Given the description of an element on the screen output the (x, y) to click on. 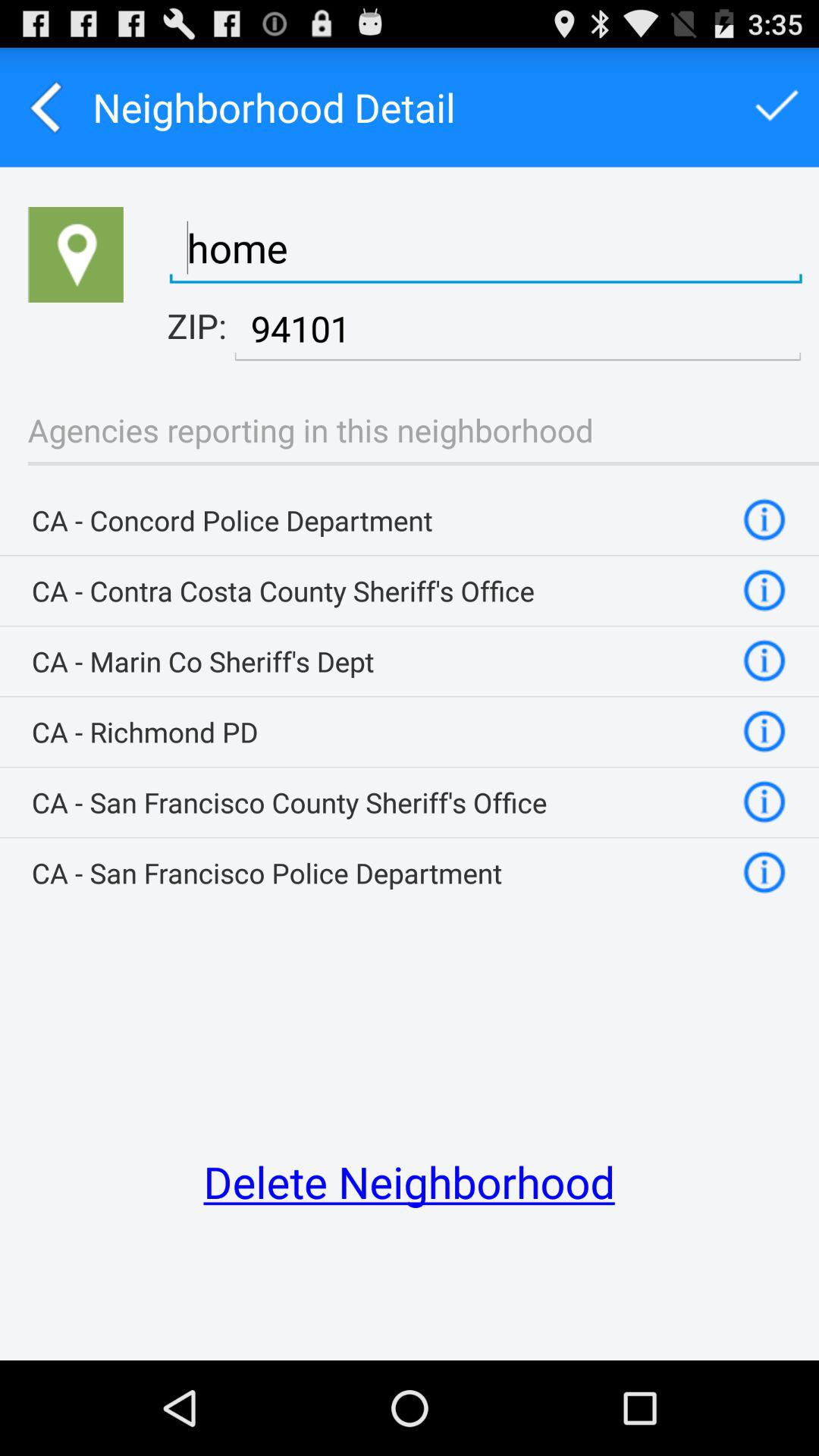
click on the information icon on right side of text ca  richmond pd (765, 732)
